Given the description of an element on the screen output the (x, y) to click on. 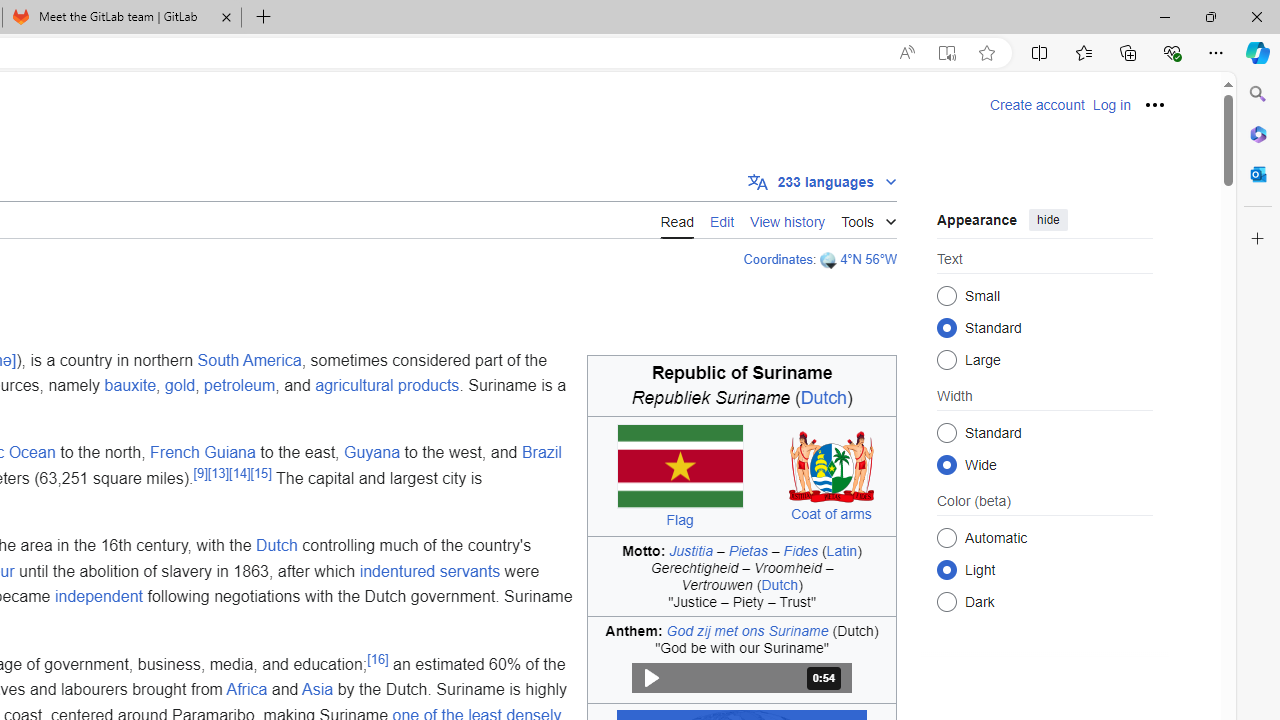
Flag of Suriname (679, 466)
Create account (1037, 105)
Flag of Suriname (679, 466)
Large (946, 359)
Show location on an interactive map (830, 260)
Dark (946, 601)
Latin (841, 550)
Coat of arms of Suriname (831, 466)
[9] (200, 472)
Automatic (946, 537)
Wide (946, 464)
